Given the description of an element on the screen output the (x, y) to click on. 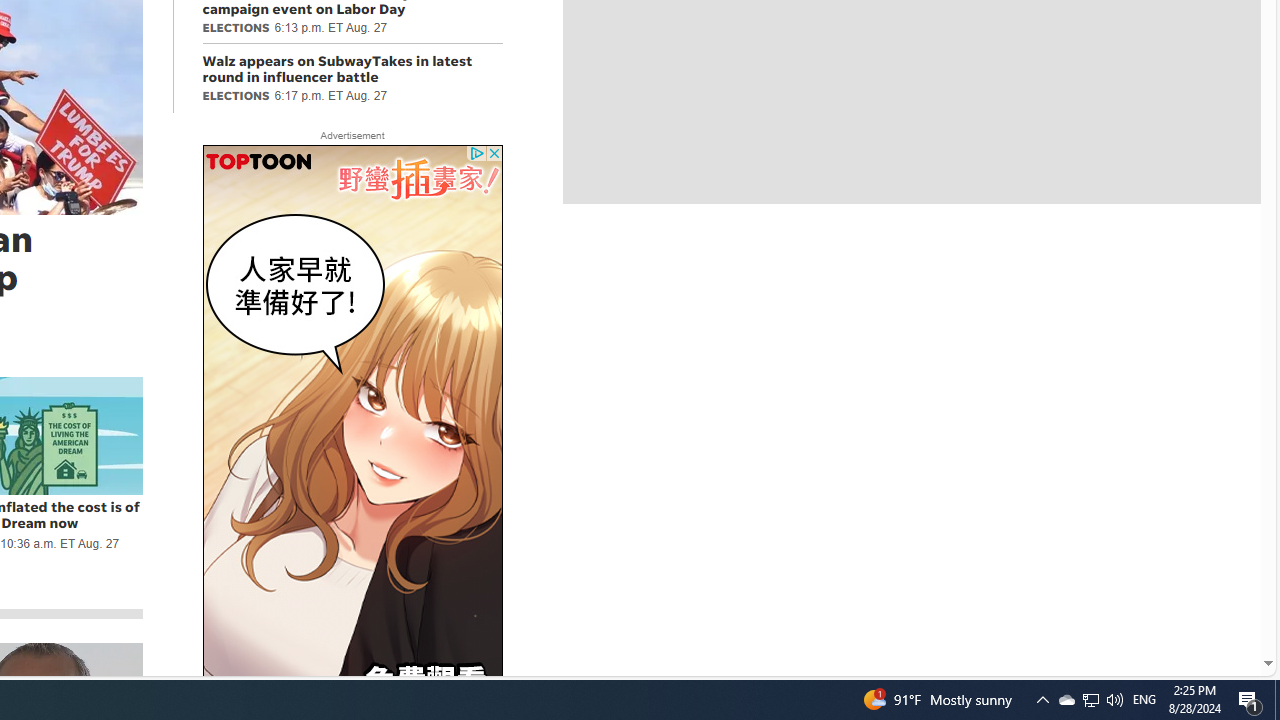
AutomationID: close_button_svg (493, 153)
Class: privacy_out (475, 153)
